Given the description of an element on the screen output the (x, y) to click on. 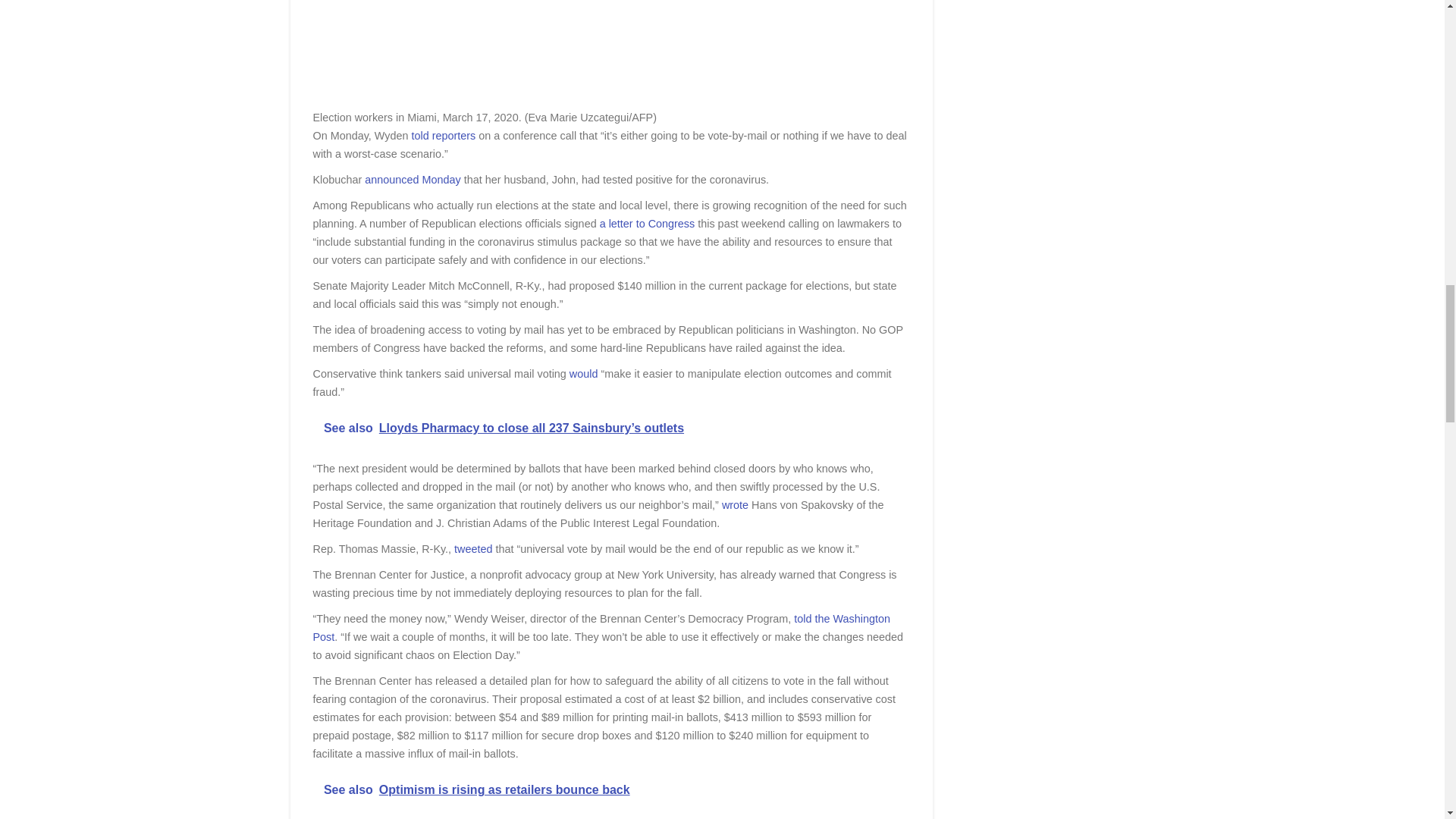
told the Washington Post (601, 627)
See also  Optimism is rising as retailers bounce back (611, 790)
wrote (735, 504)
tweeted (473, 548)
a letter to Congress (647, 223)
told reporters (443, 135)
announced Monday (412, 179)
would (583, 373)
